Given the description of an element on the screen output the (x, y) to click on. 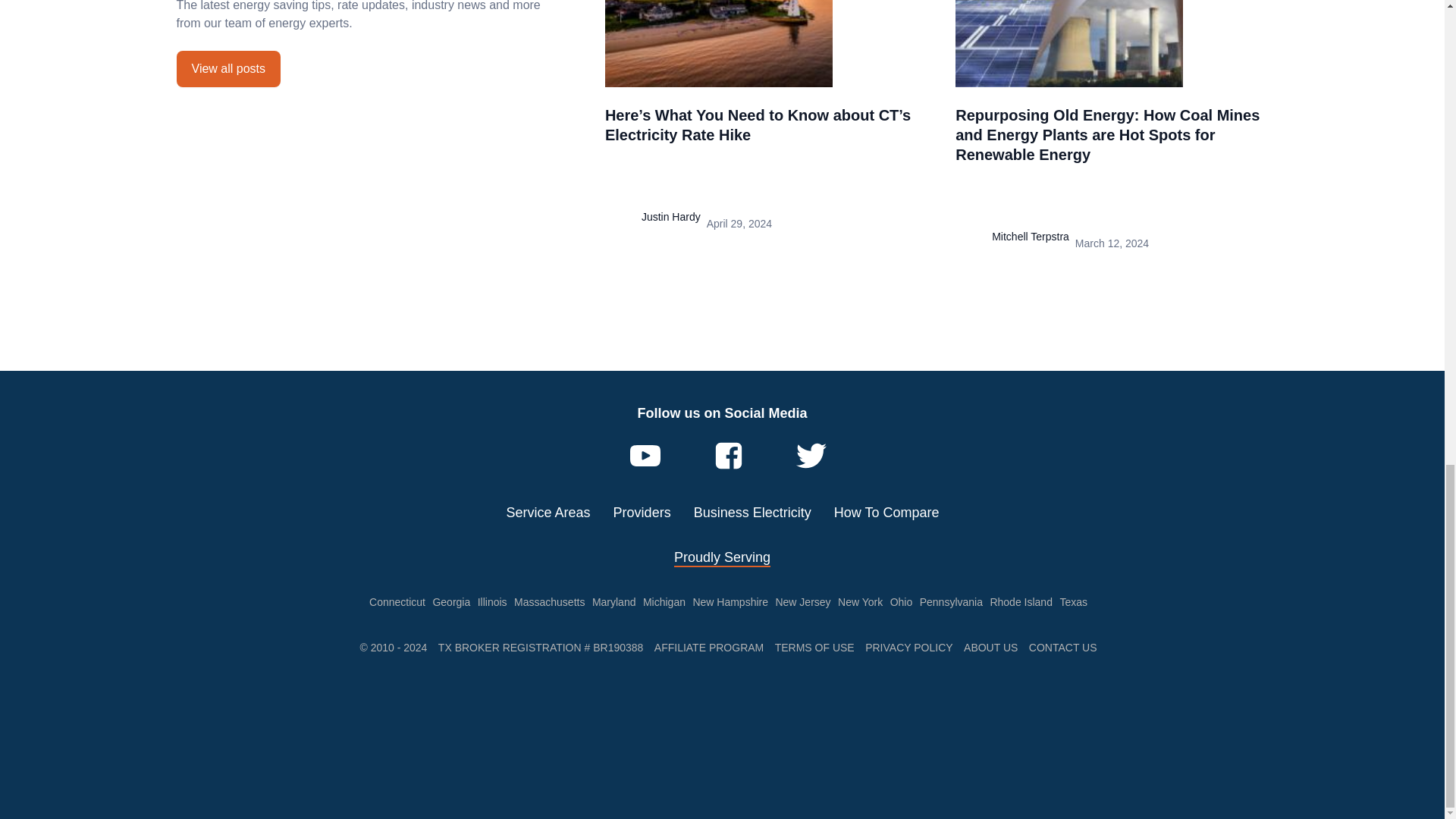
Facebook (727, 455)
Twitter (811, 455)
YouTube (645, 455)
